Given the description of an element on the screen output the (x, y) to click on. 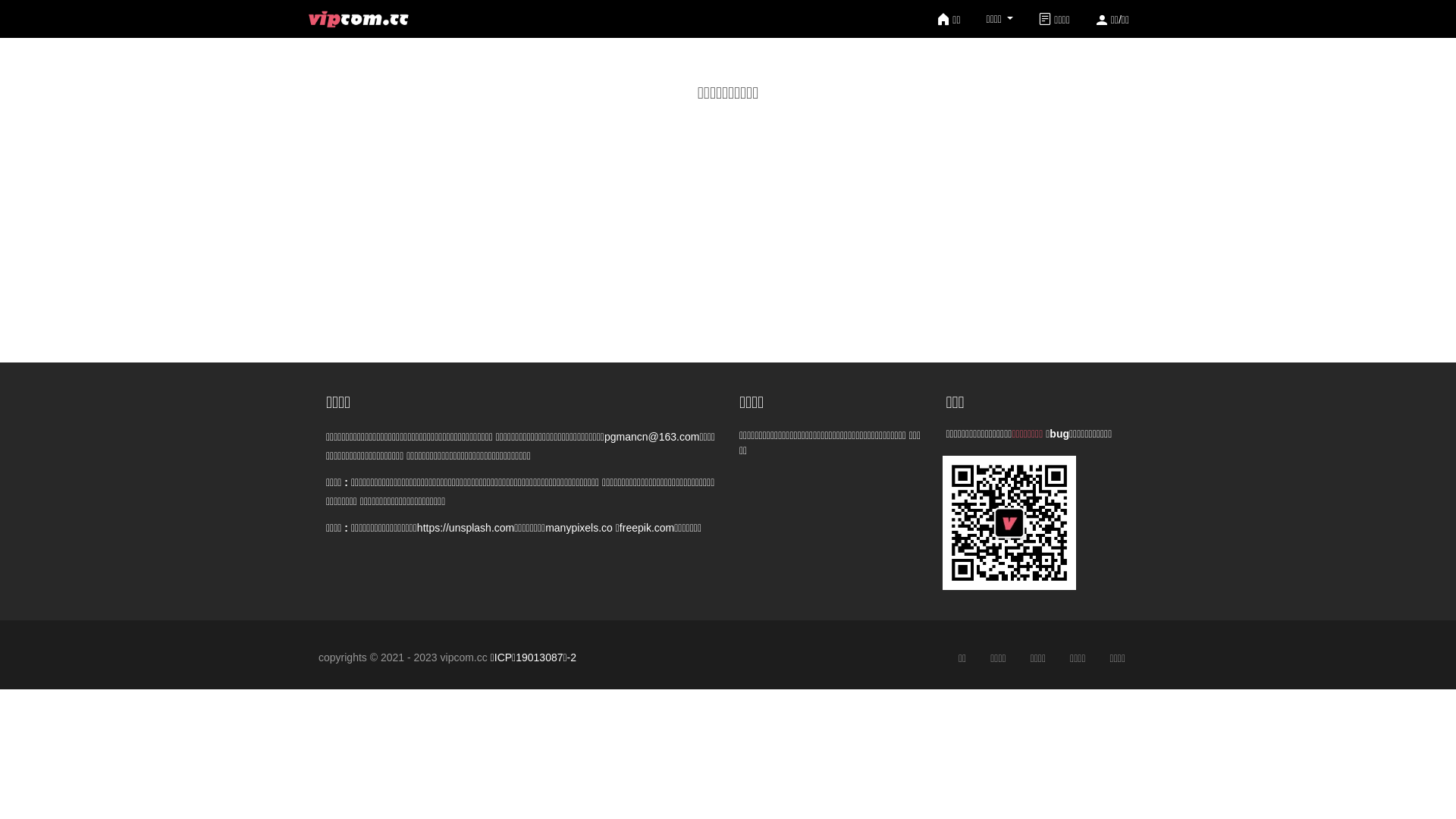
https://unsplash.com Element type: text (465, 527)
